Given the description of an element on the screen output the (x, y) to click on. 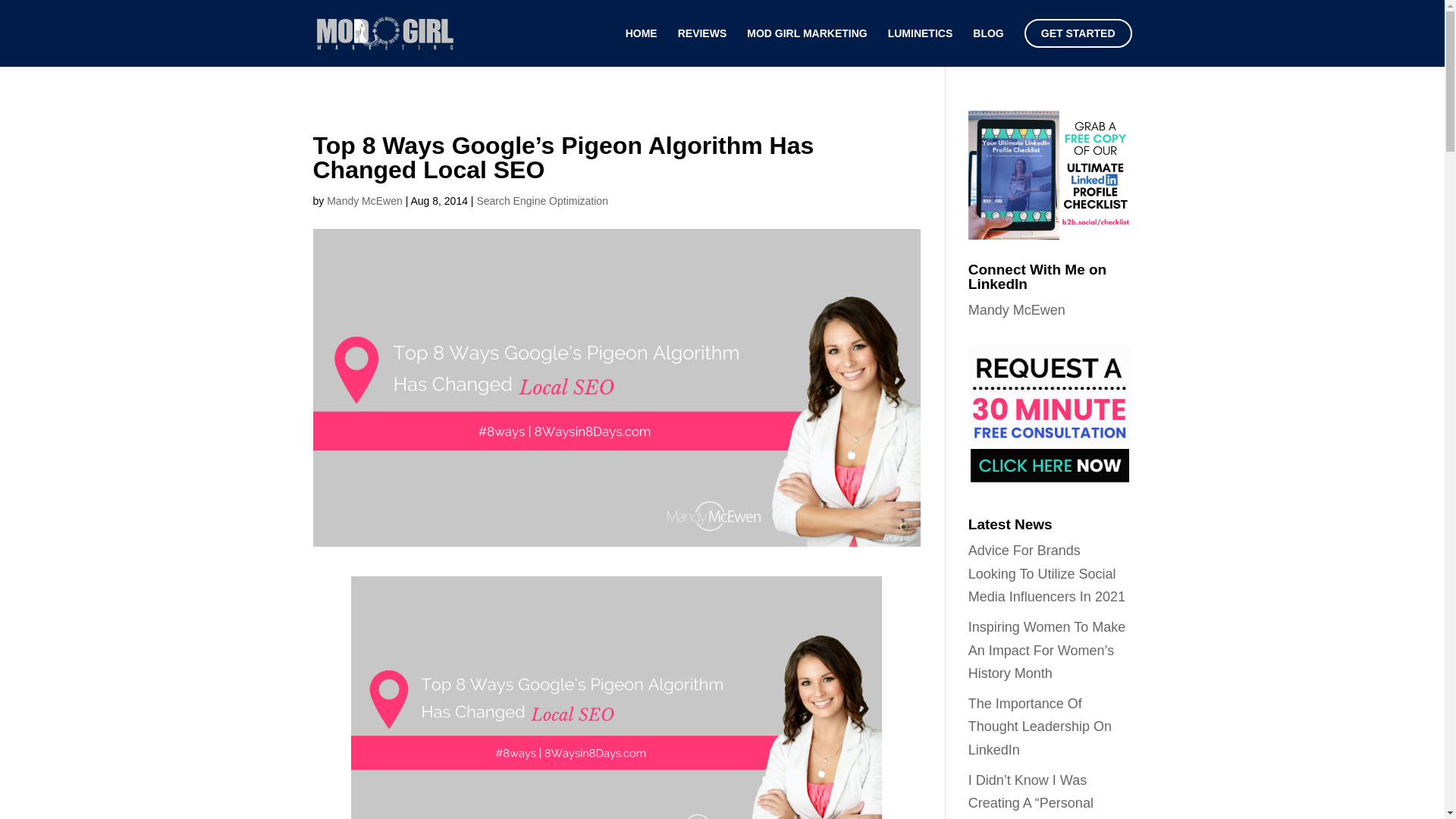
BLOG (987, 42)
REVIEWS (702, 42)
Mandy McEwen (1016, 309)
Googles Pigeon Algorithm Local SEO Changes Mandy McEwen (616, 697)
Mandy McEwen (364, 200)
Posts by Mandy McEwen (364, 200)
The Importance Of Thought Leadership On LinkedIn (1040, 726)
MOD GIRL MARKETING (806, 42)
HOME (642, 42)
GET STARTED (1078, 42)
LUMINETICS (920, 42)
Search Engine Optimization (542, 200)
